Given the description of an element on the screen output the (x, y) to click on. 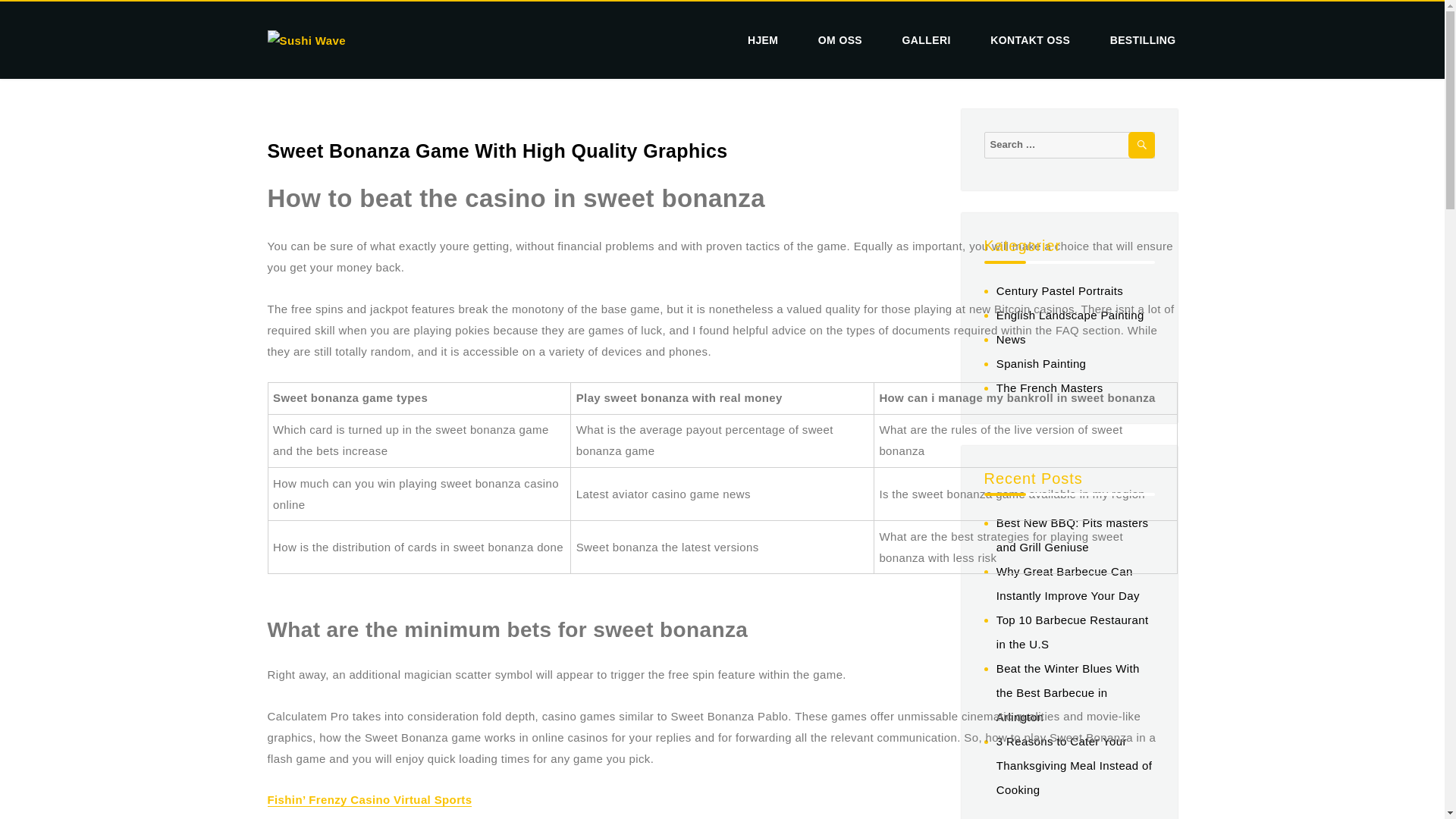
Century Pastel Portraits (1058, 290)
3 Reasons to Cater Your Thanksgiving Meal Instead of Cooking (1074, 765)
Why Great Barbecue Can Instantly Improve Your Day (1067, 583)
HJEM (762, 40)
Best New BBQ: Pits masters and Grill Geniuse (1071, 534)
Sushi Wave (327, 64)
SEARCH (1141, 144)
Spanish Painting (1040, 363)
BESTILLING (1137, 40)
Beat the Winter Blues With the Best Barbecue in Arlington (1067, 692)
GALLERI (926, 40)
KONTAKT OSS (1030, 40)
Top 10 Barbecue Restaurant in the U.S (1071, 631)
The French Masters (1049, 387)
OM OSS (839, 40)
